Given the description of an element on the screen output the (x, y) to click on. 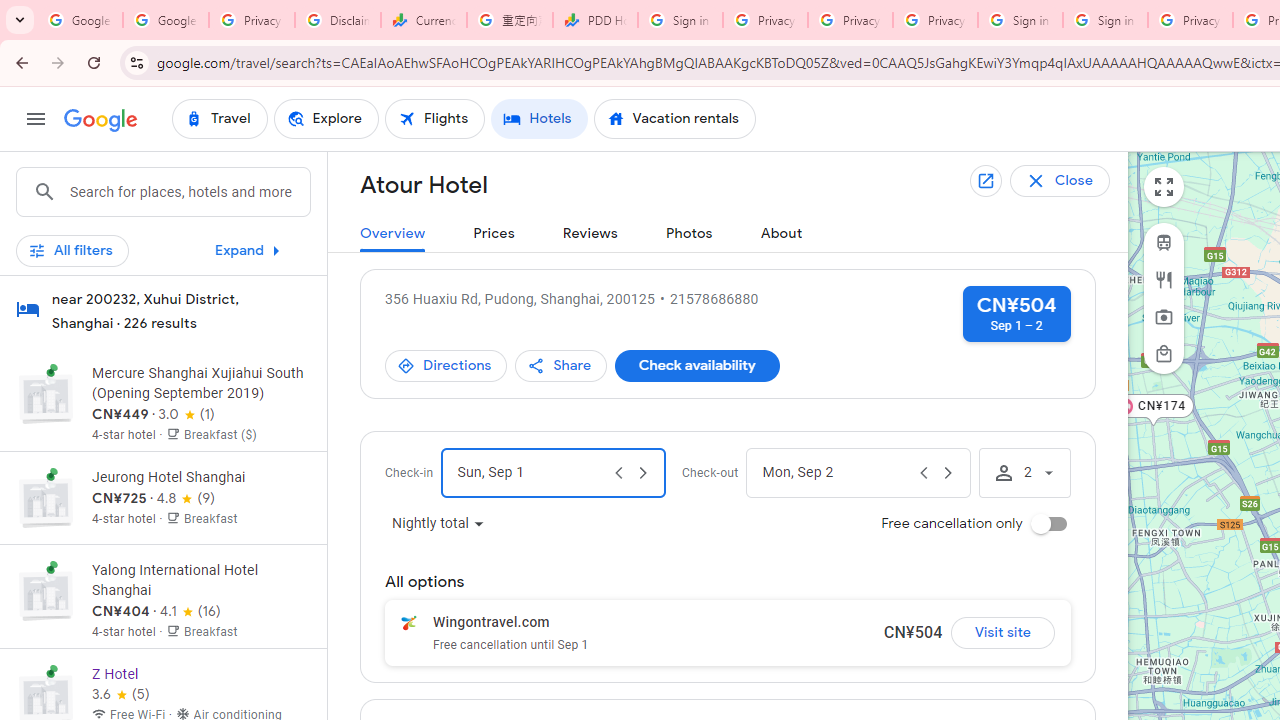
Attractions (1163, 317)
Privacy Checkup (935, 20)
Explore (325, 118)
Free cancellation only (1048, 523)
Expand (251, 250)
